Given the description of an element on the screen output the (x, y) to click on. 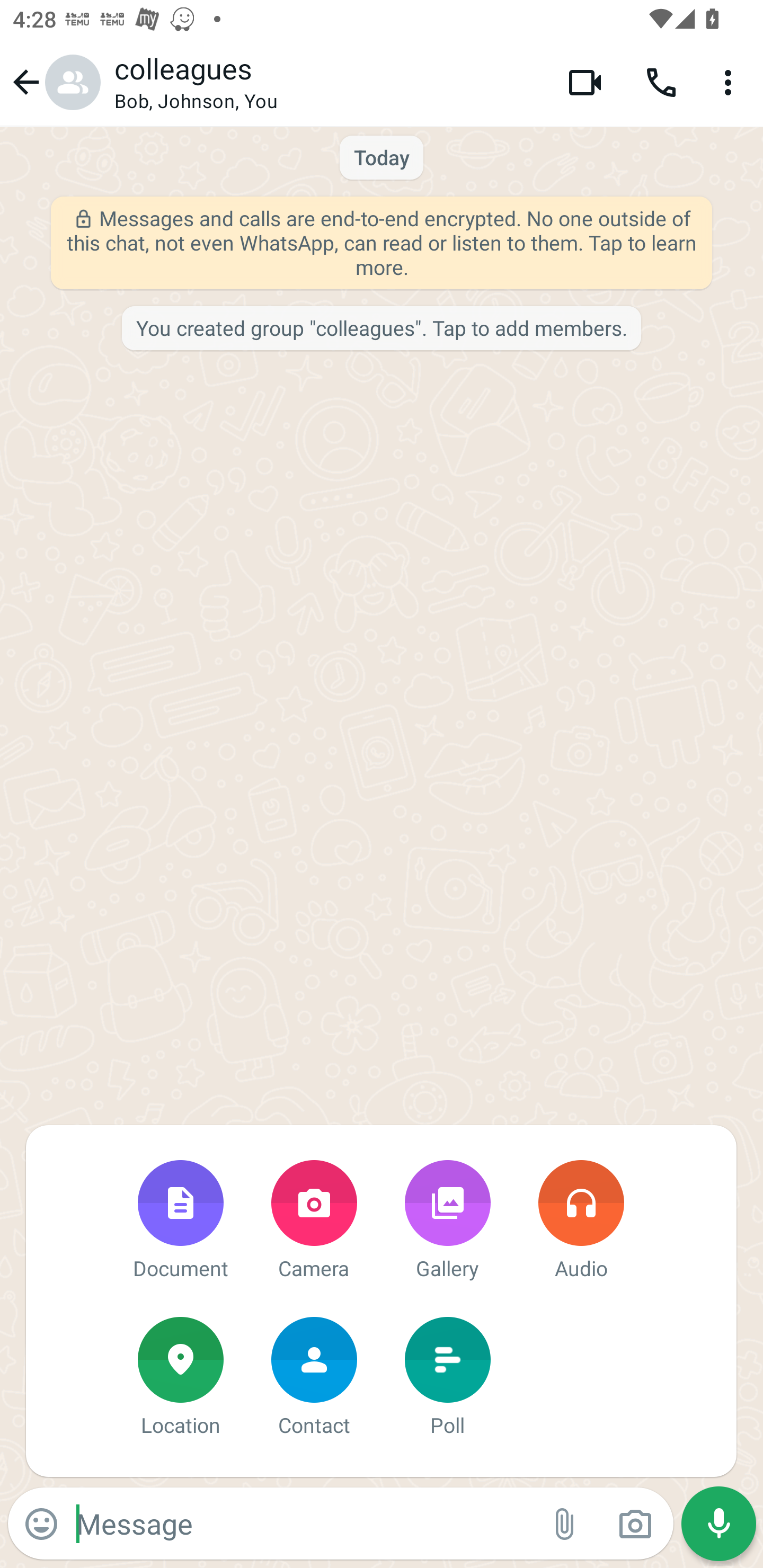
Document (180, 1221)
Camera (313, 1221)
Gallery (447, 1221)
Audio (580, 1221)
Location (180, 1378)
Contact (313, 1378)
Poll (447, 1378)
